Given the description of an element on the screen output the (x, y) to click on. 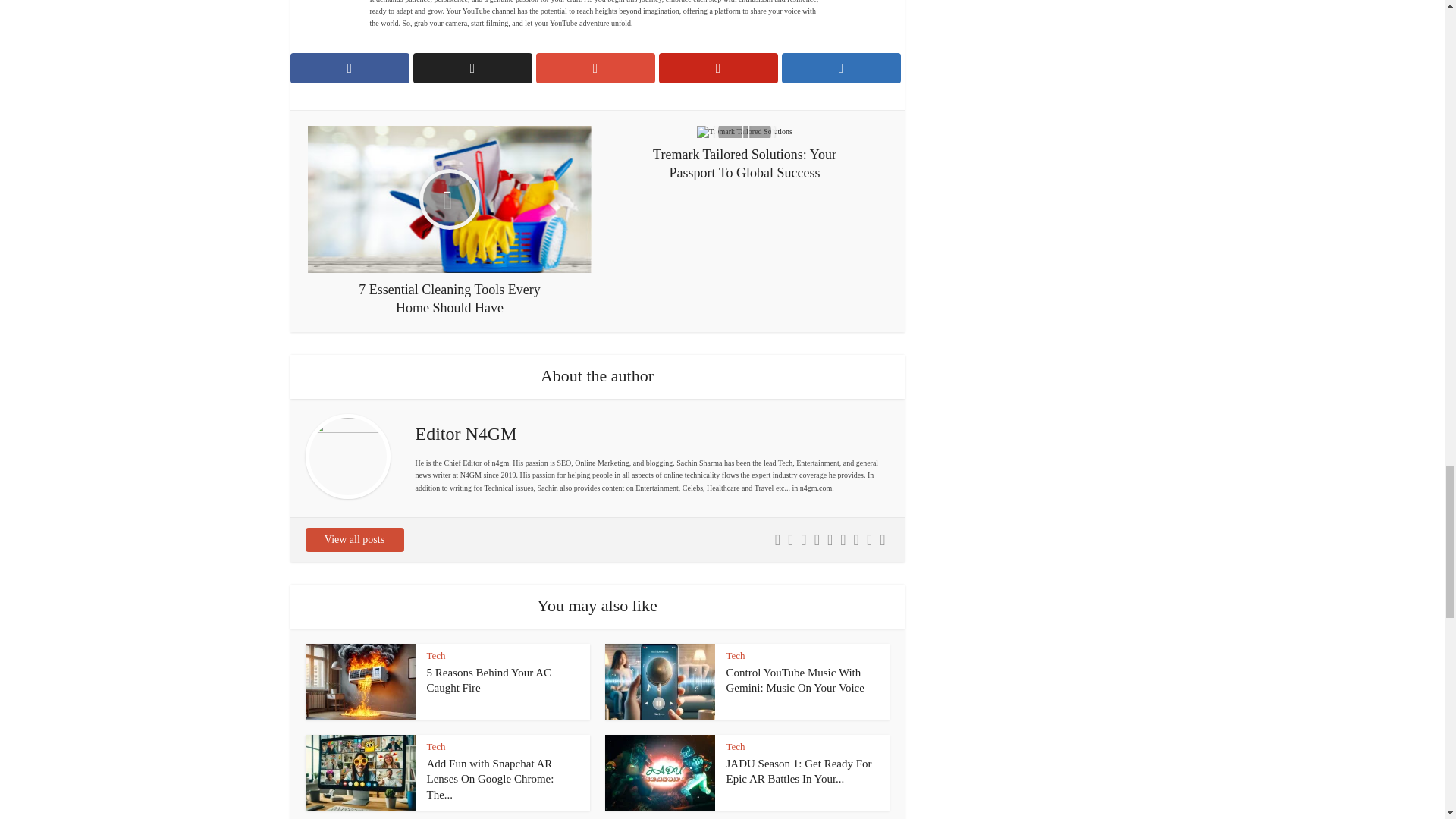
5 Reasons Behind Your AC Caught Fire (488, 679)
Control YouTube Music With Gemini: Music On Your Voice (795, 679)
